Given the description of an element on the screen output the (x, y) to click on. 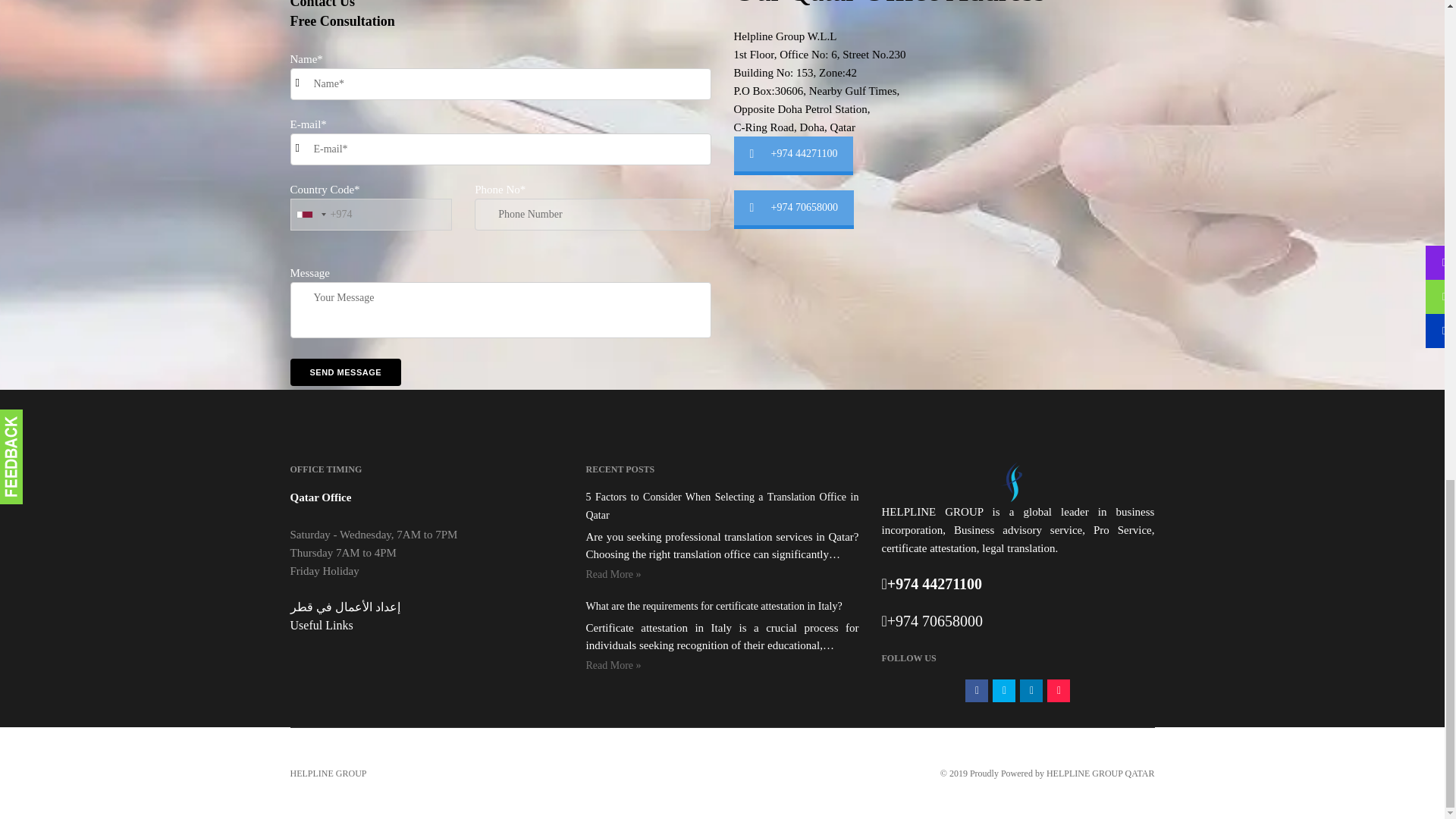
send message (345, 371)
